Given the description of an element on the screen output the (x, y) to click on. 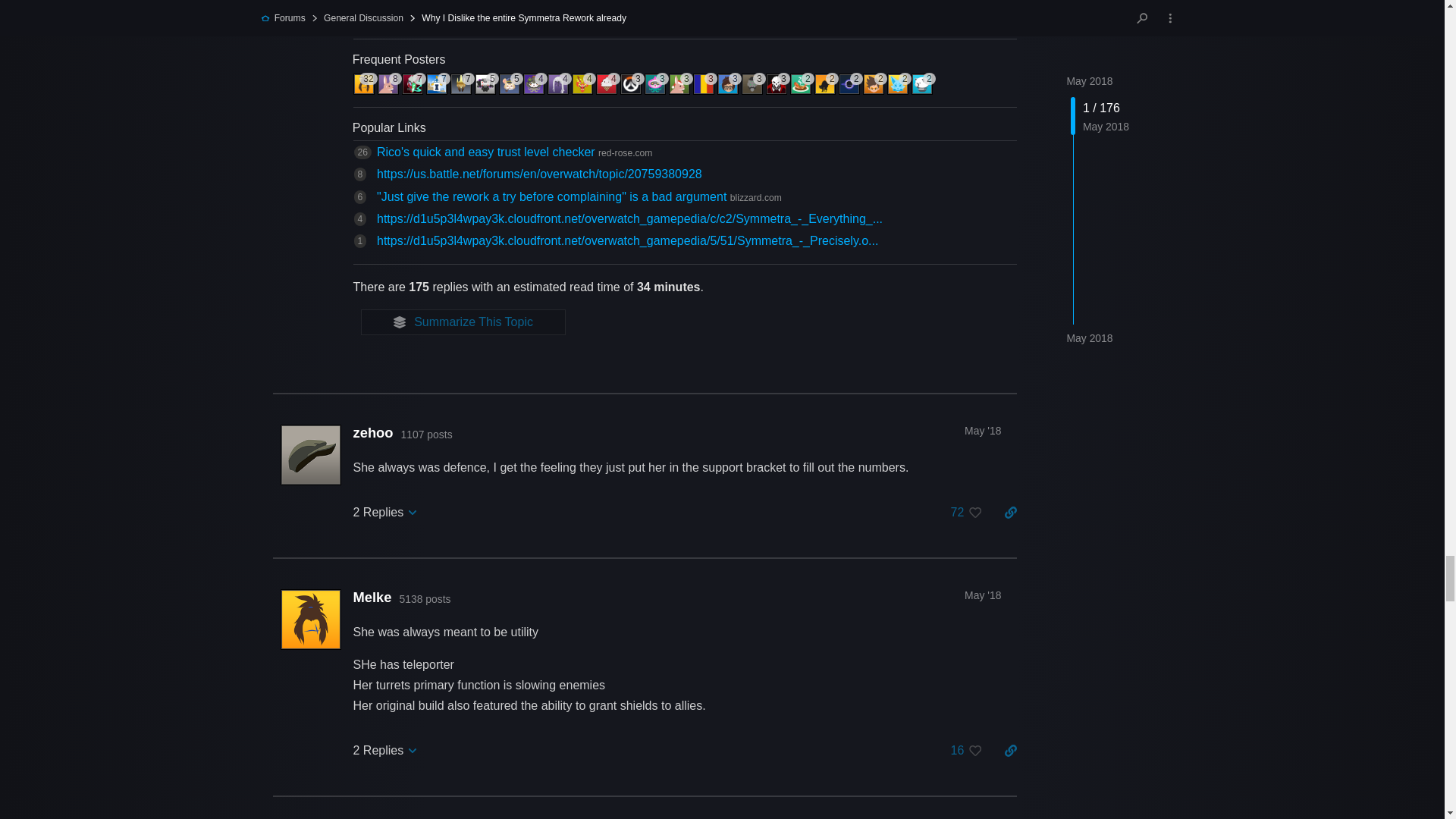
Melke-1420 (363, 84)
7 (437, 83)
May 16, 2018 11:14 am (393, 23)
May 18, 2018 3:41 am (468, 23)
Melke (363, 24)
3 (680, 83)
7 (413, 83)
Nefara (439, 24)
8054 (562, 6)
3 (632, 83)
3 (656, 83)
32 (365, 83)
8 (389, 83)
4 (534, 83)
5 (510, 83)
